Given the description of an element on the screen output the (x, y) to click on. 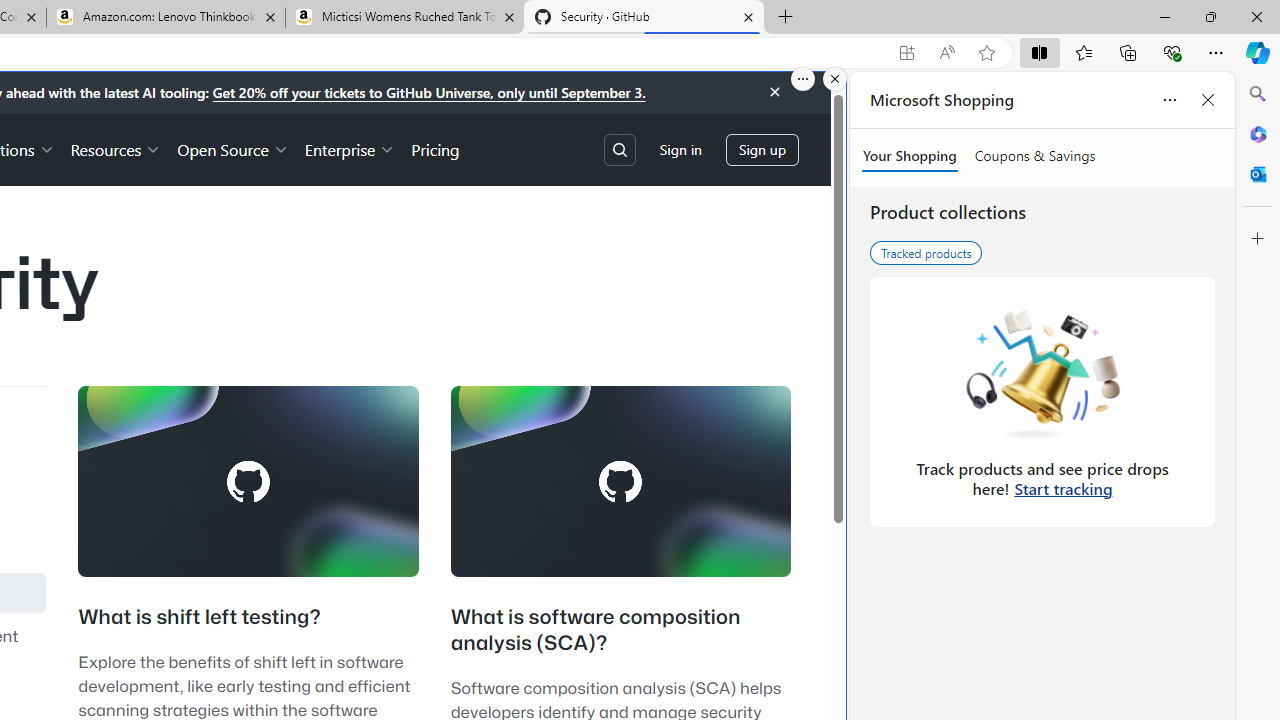
More options. (803, 79)
What is software composition analysis (SCA)? (595, 629)
Sign up (761, 149)
